Given the description of an element on the screen output the (x, y) to click on. 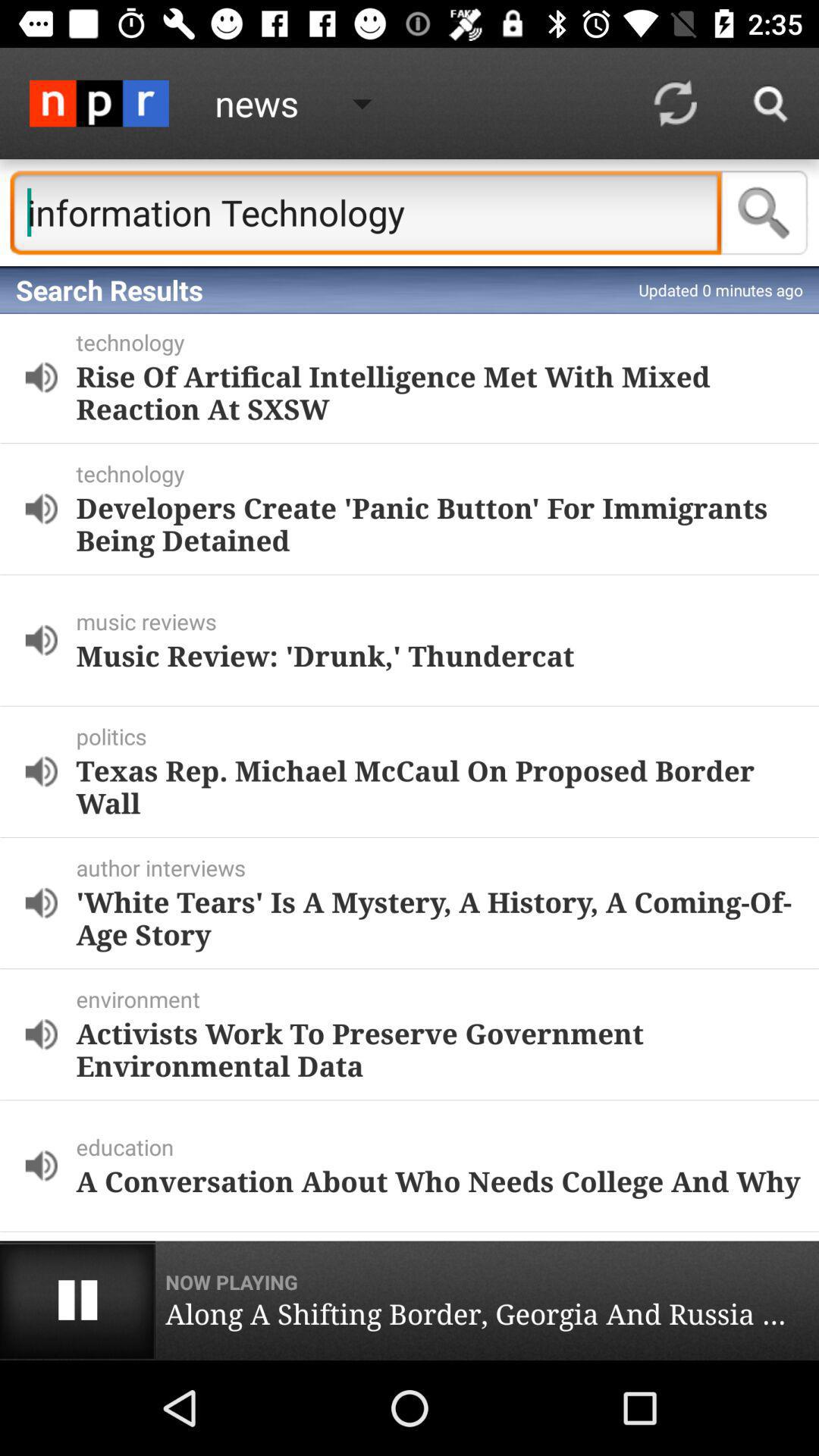
press the item below technology item (438, 523)
